Given the description of an element on the screen output the (x, y) to click on. 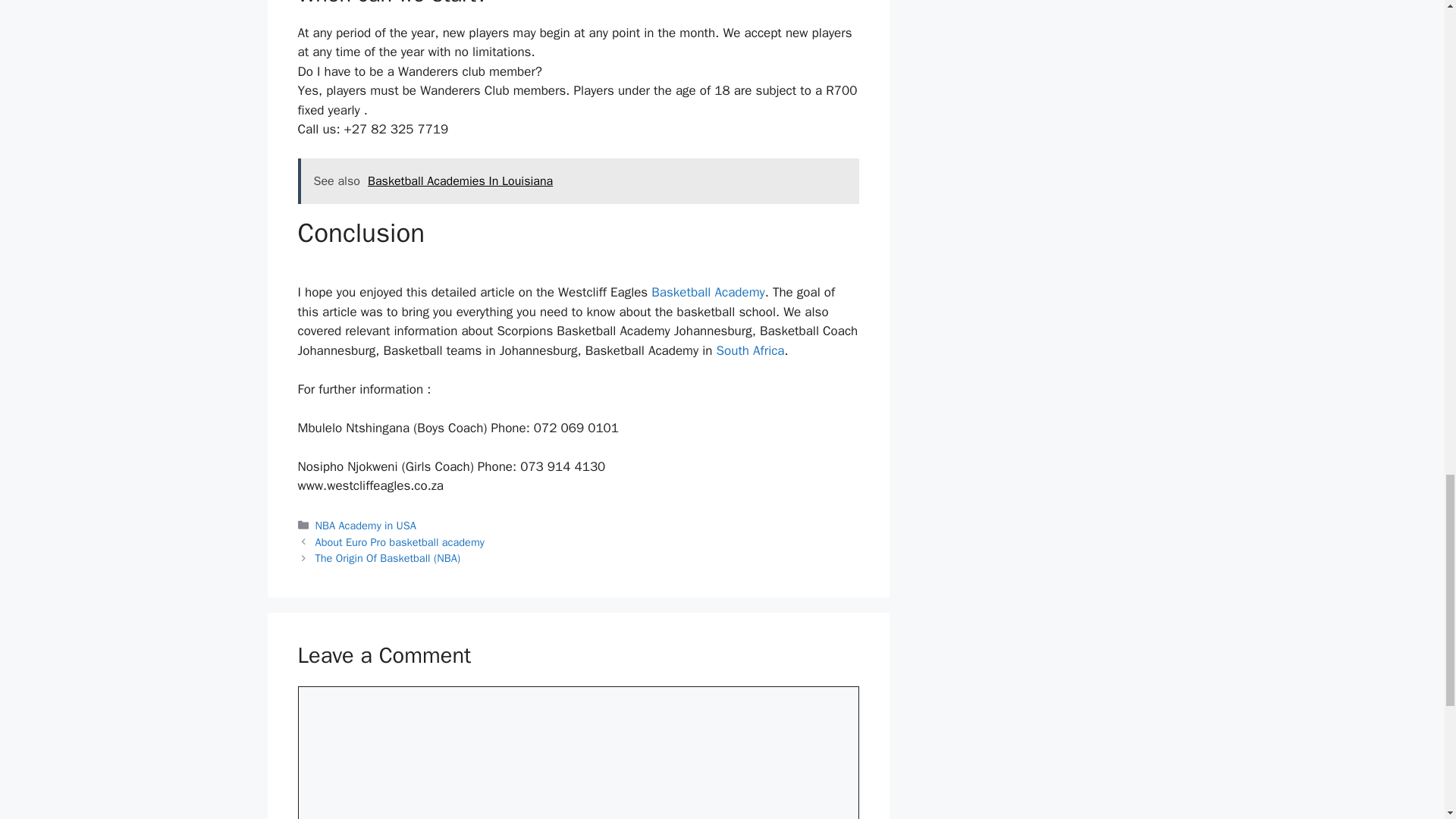
NBA Academy in USA (365, 525)
South Africa (750, 350)
About Euro Pro basketball academy (399, 541)
See also  Basketball Academies In Louisiana (578, 180)
Basketball Academy (707, 292)
